Given the description of an element on the screen output the (x, y) to click on. 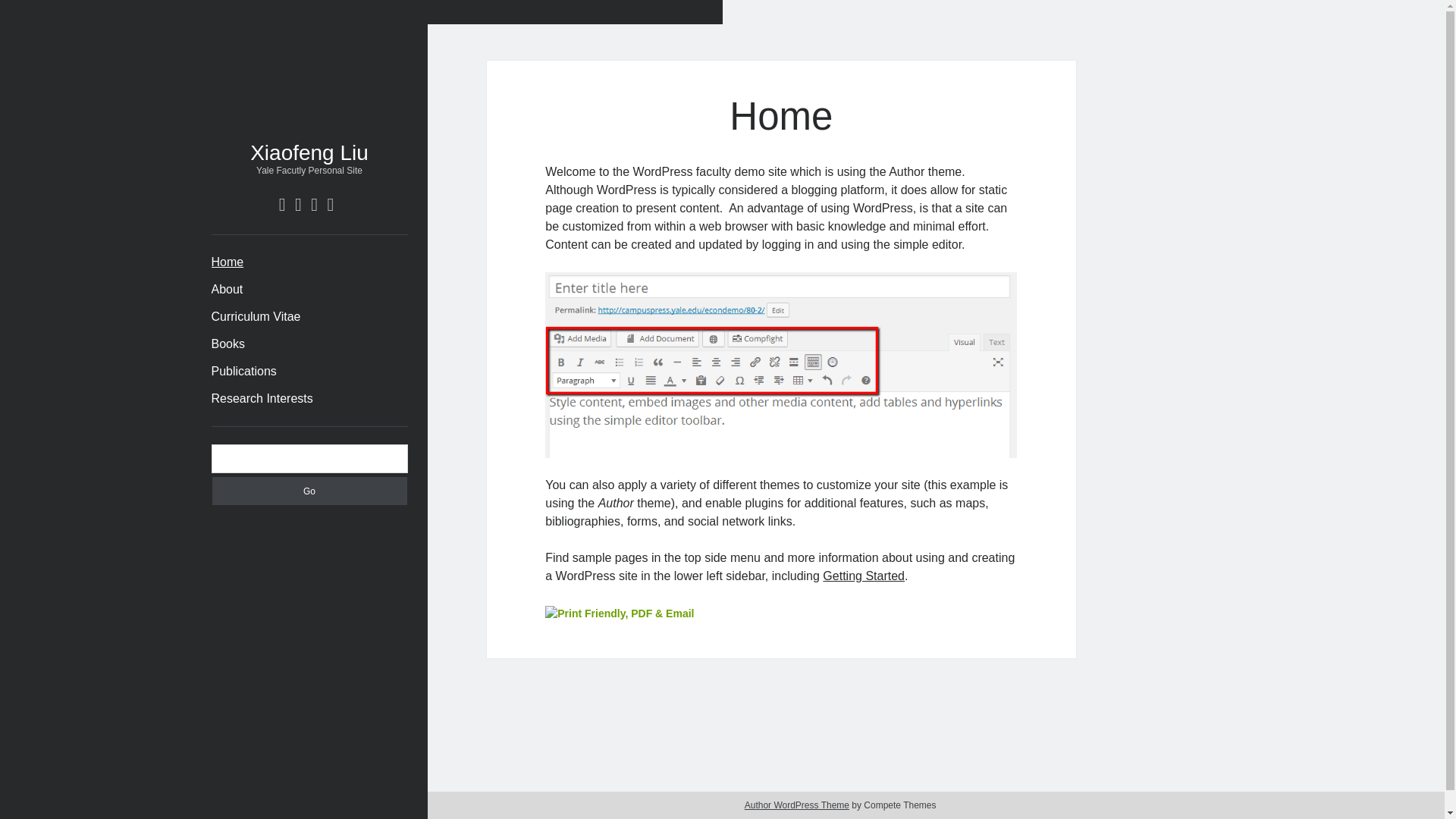
Getting Started (863, 575)
About (227, 289)
facebook (298, 204)
Xiaofeng Liu avatar (309, 96)
Xiaofeng Liu (309, 152)
Author WordPress Theme (796, 805)
Go (309, 490)
twitter (282, 204)
linkedin (314, 204)
Search for: (309, 458)
email (329, 204)
Home (227, 262)
Research Interests (262, 398)
Publications (243, 371)
Books (227, 343)
